Given the description of an element on the screen output the (x, y) to click on. 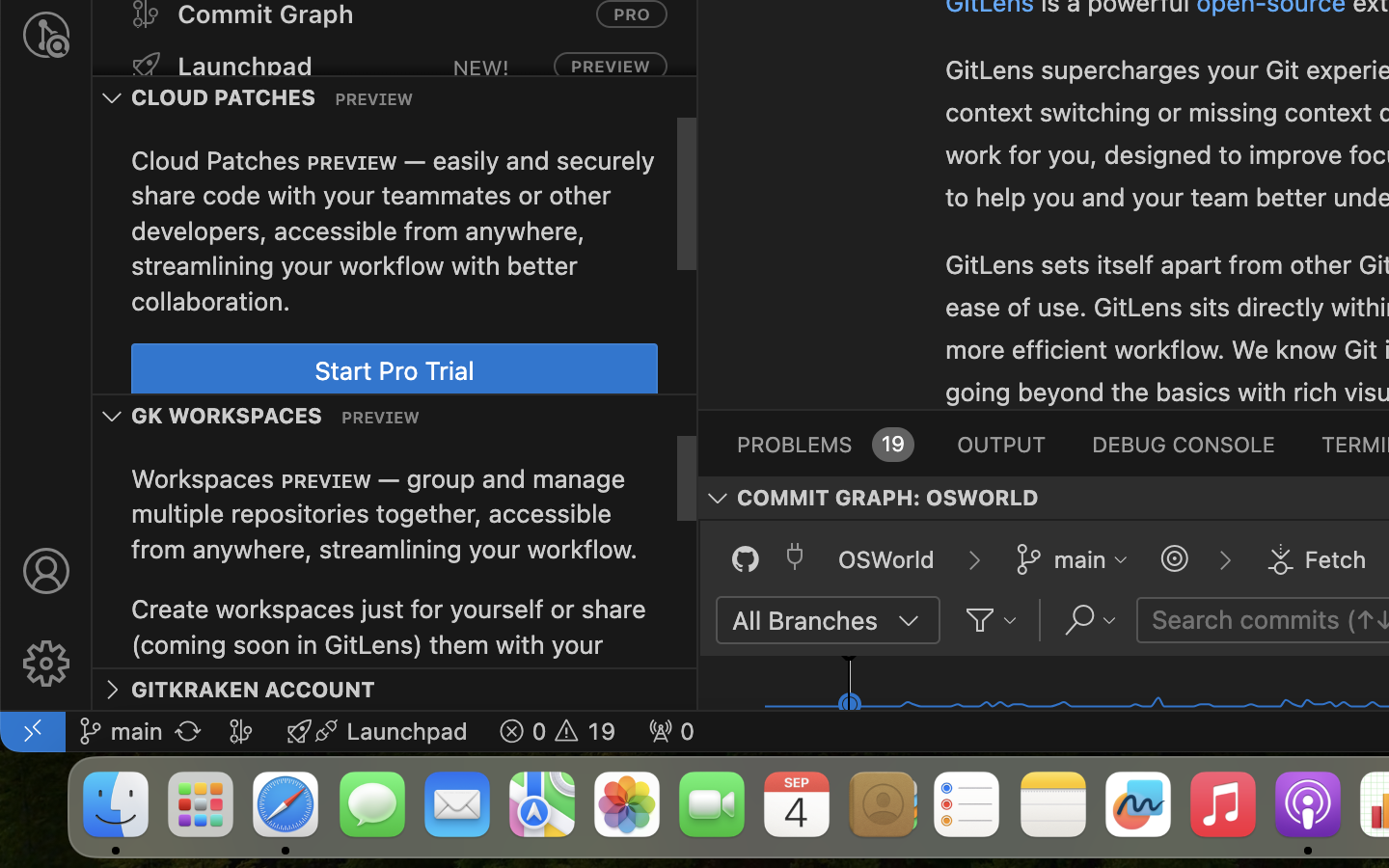
12 Element type: AXStaticText (788, 305)
 Element type: AXStaticText (1229, 50)
 Element type: AXGroup (46, 570)
 Element type: AXStaticText (908, 620)
main  Element type: AXButton (120, 730)
